Given the description of an element on the screen output the (x, y) to click on. 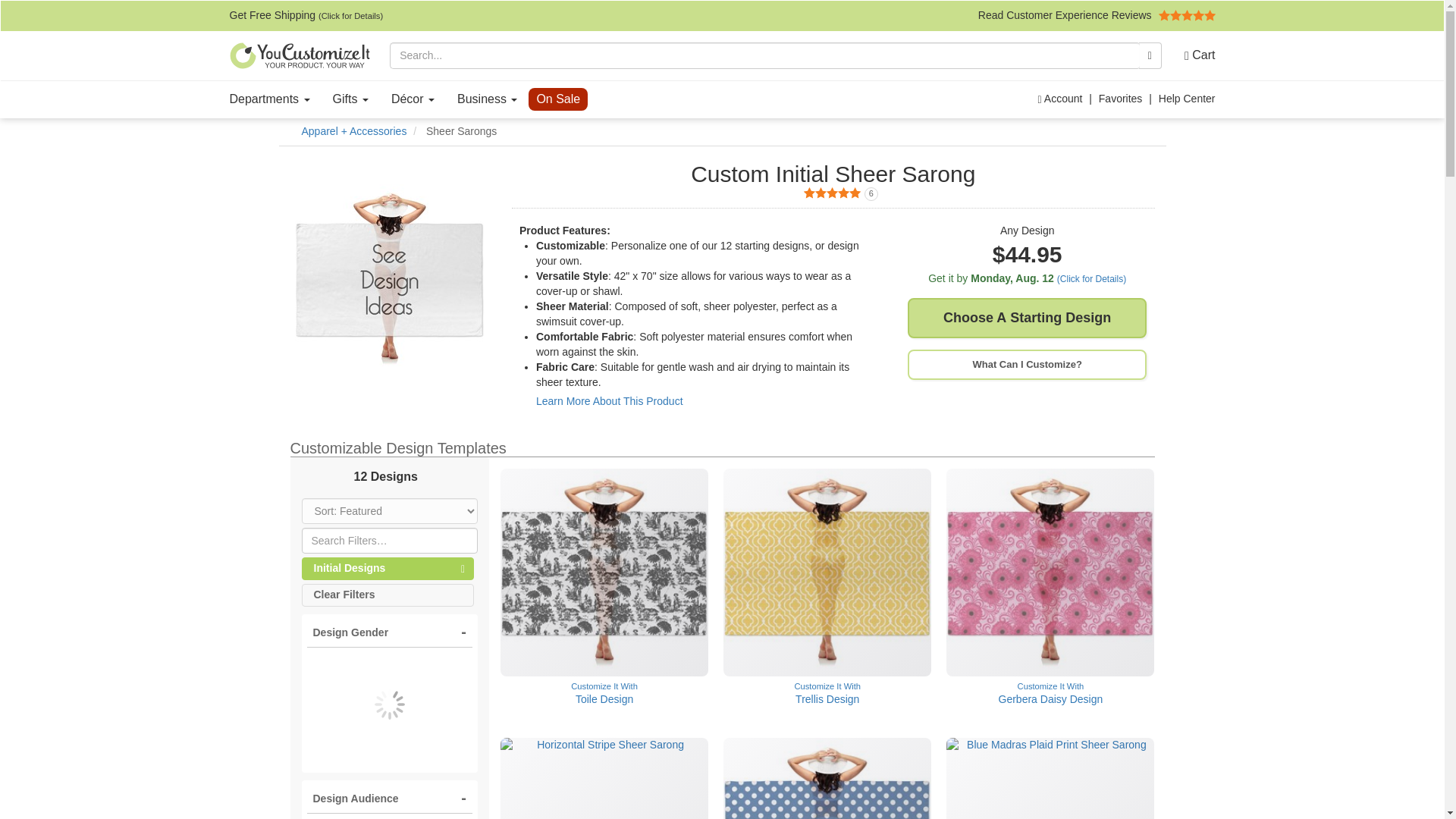
Choose A Starting Design (1027, 318)
Learn More About This Product (608, 400)
Departments (269, 99)
Cart (1194, 55)
Gifts (833, 194)
Read Customer Experience Reviews (350, 99)
Business (1096, 15)
Calculate Shipping (486, 99)
